Given the description of an element on the screen output the (x, y) to click on. 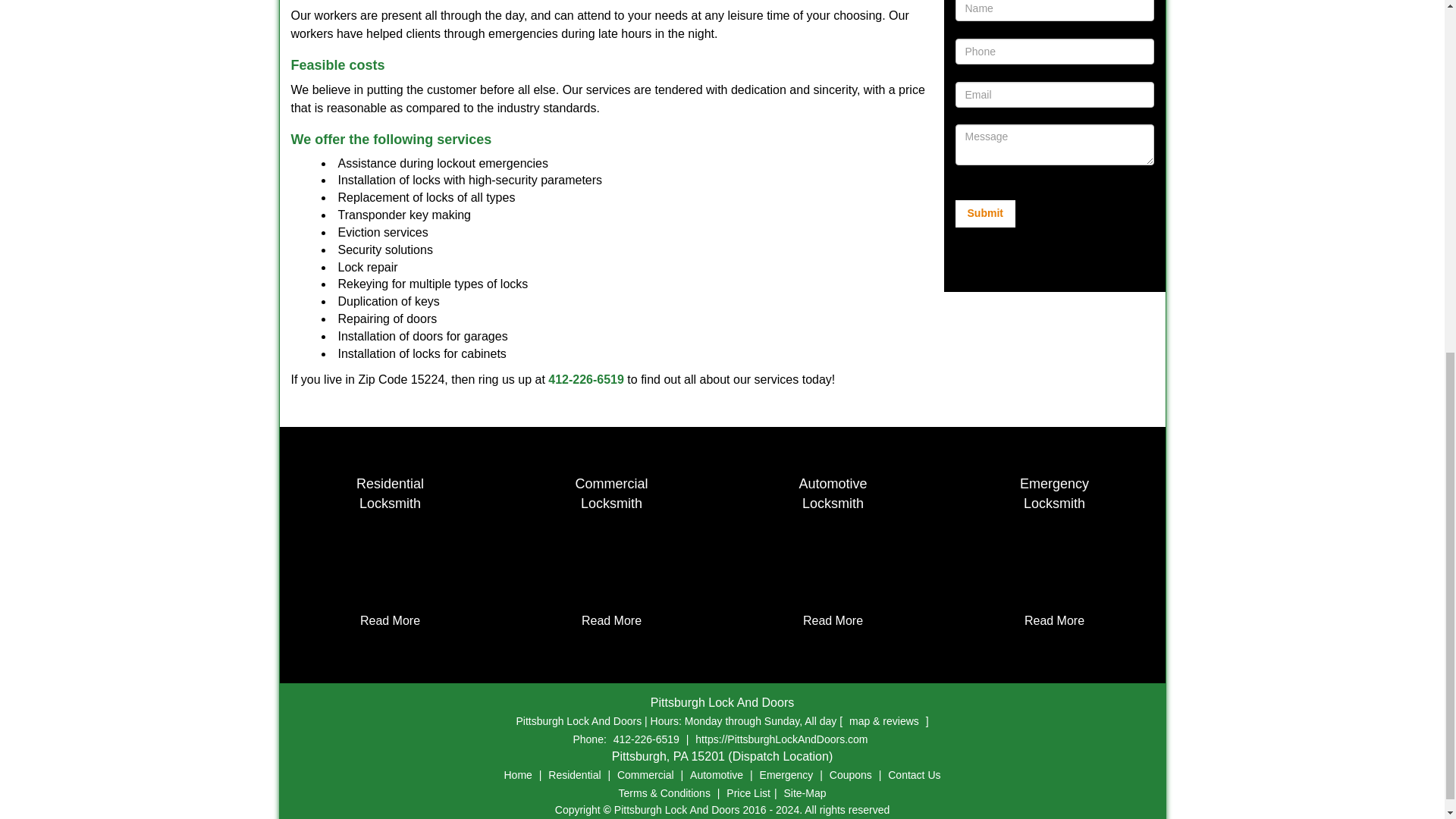
Message Field require (1054, 144)
Email Field required (1054, 94)
412-226-6519 (586, 379)
Read More (389, 620)
Submit (984, 213)
Submit (984, 213)
Name Field required (389, 493)
Phone Field required (1054, 10)
